Given the description of an element on the screen output the (x, y) to click on. 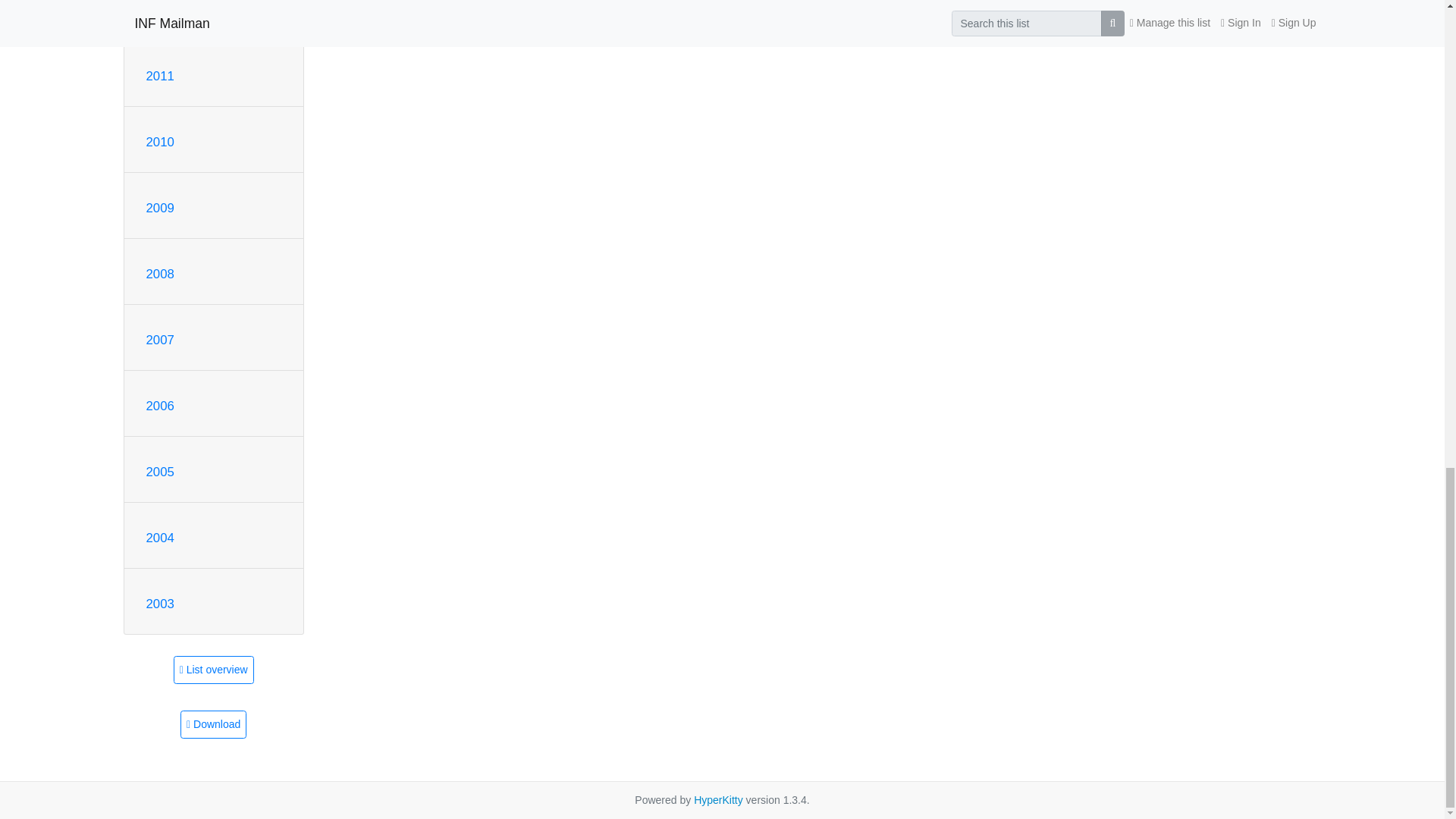
This month in gzipped mbox format (213, 724)
